Given the description of an element on the screen output the (x, y) to click on. 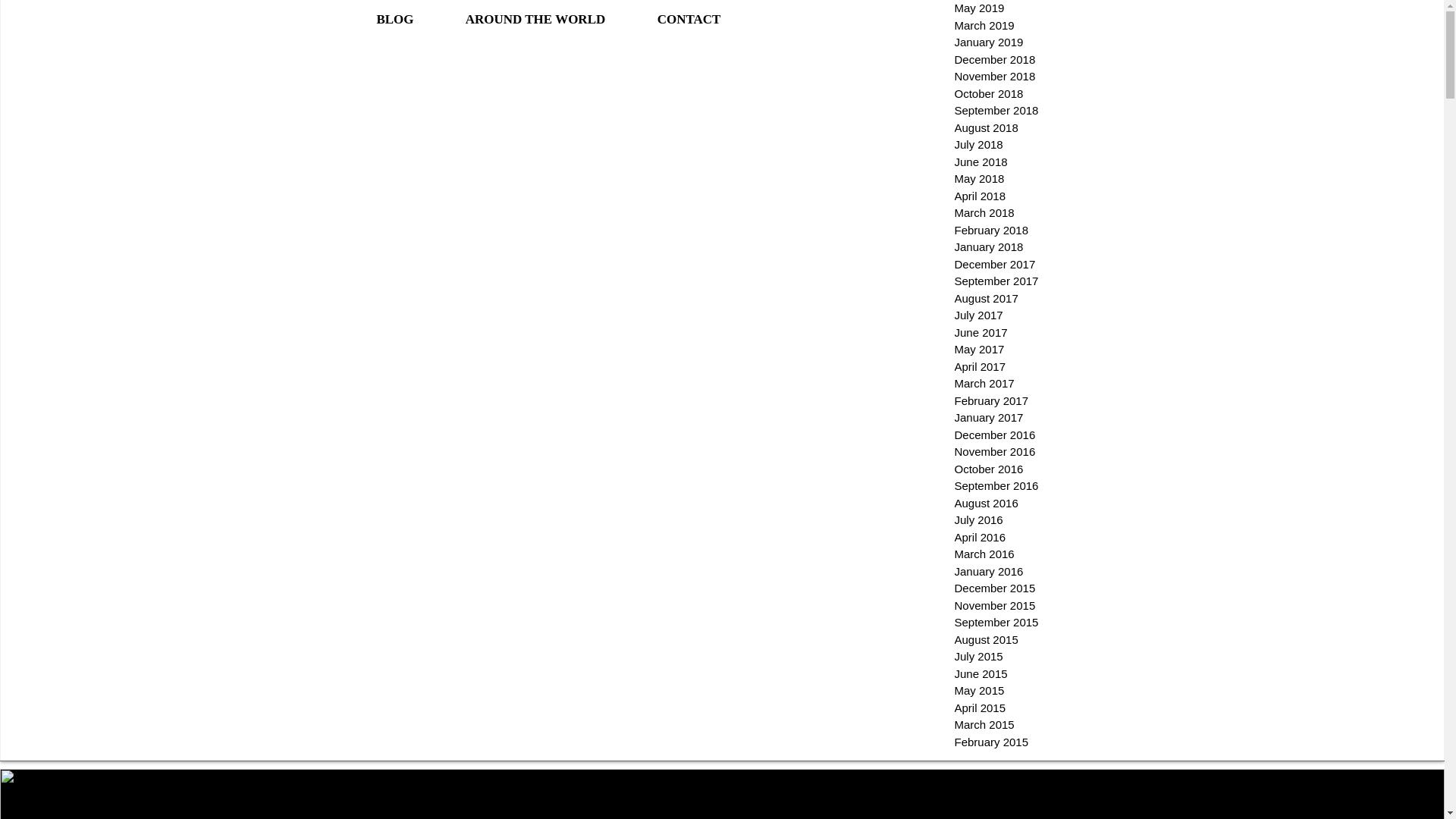
November 2018 (1003, 76)
January 2019 (1003, 42)
January 2016 (1003, 570)
December 2015 (1003, 588)
July 2017 (1003, 315)
April 2017 (1003, 366)
October 2016 (1003, 469)
December 2018 (1003, 59)
February 2017 (1003, 401)
May 2017 (1003, 349)
March 2016 (1003, 554)
November 2016 (1003, 452)
June 2017 (1003, 333)
August 2017 (1003, 298)
May 2018 (1003, 179)
